Given the description of an element on the screen output the (x, y) to click on. 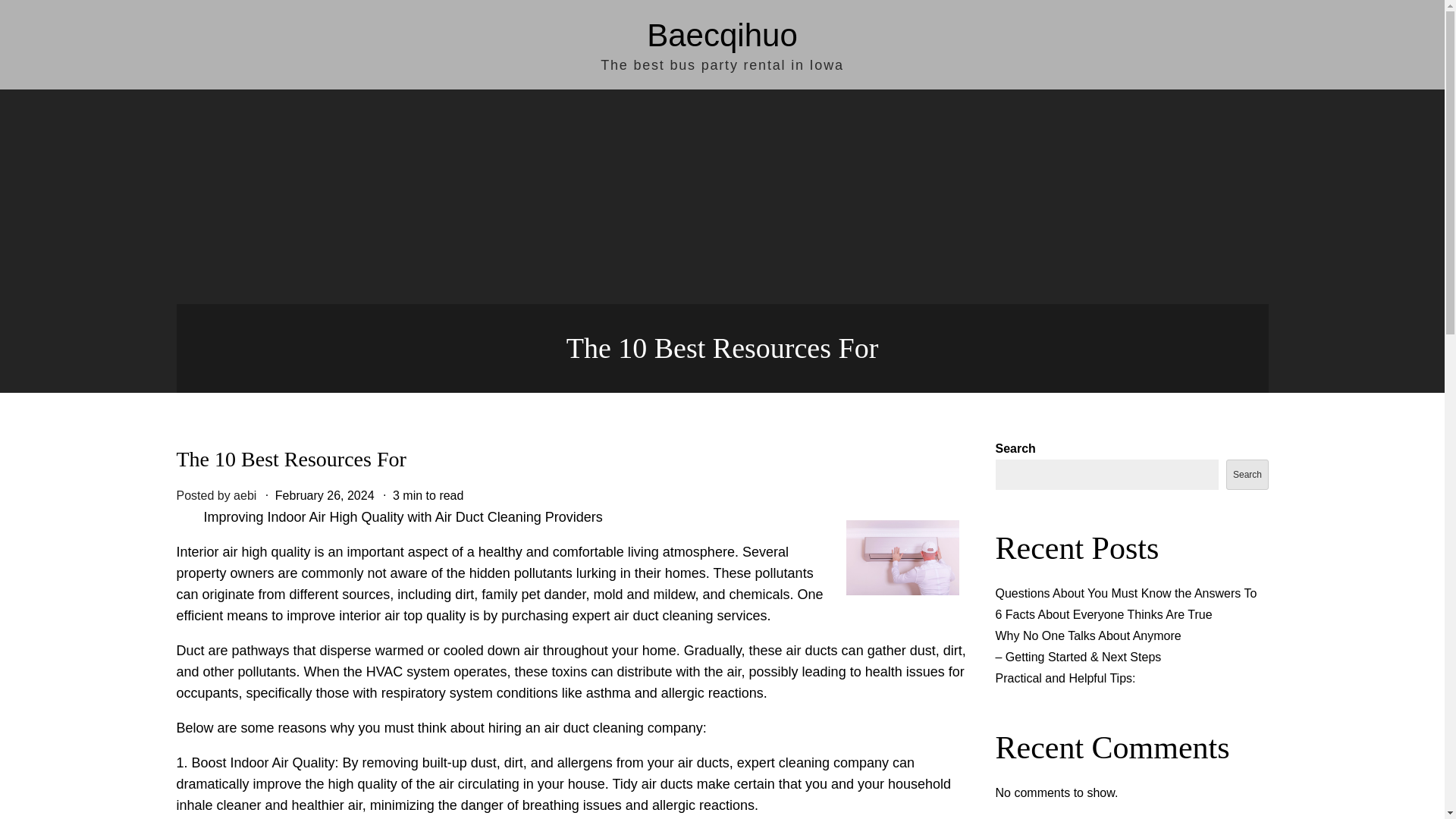
Baecqihuo (721, 35)
February 26, 2024 (324, 495)
Questions About You Must Know the Answers To (1125, 593)
Search (1246, 474)
Practical and Helpful Tips: (1064, 677)
aebi (244, 495)
6 Facts About Everyone Thinks Are True (1102, 614)
Why No One Talks About Anymore (1087, 635)
